Given the description of an element on the screen output the (x, y) to click on. 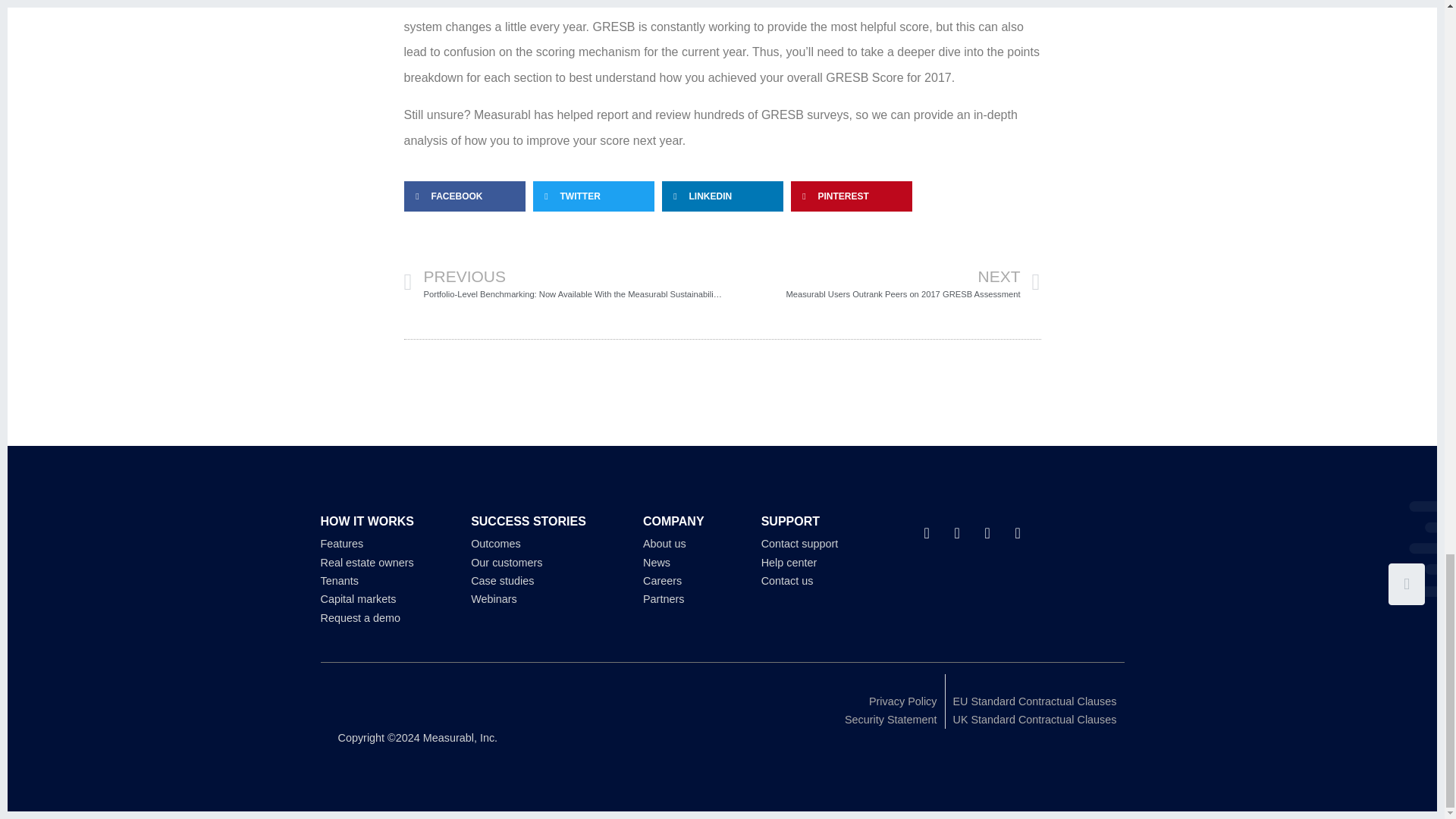
Real estate owners (366, 562)
Tenants (339, 580)
Features (881, 282)
